Given the description of an element on the screen output the (x, y) to click on. 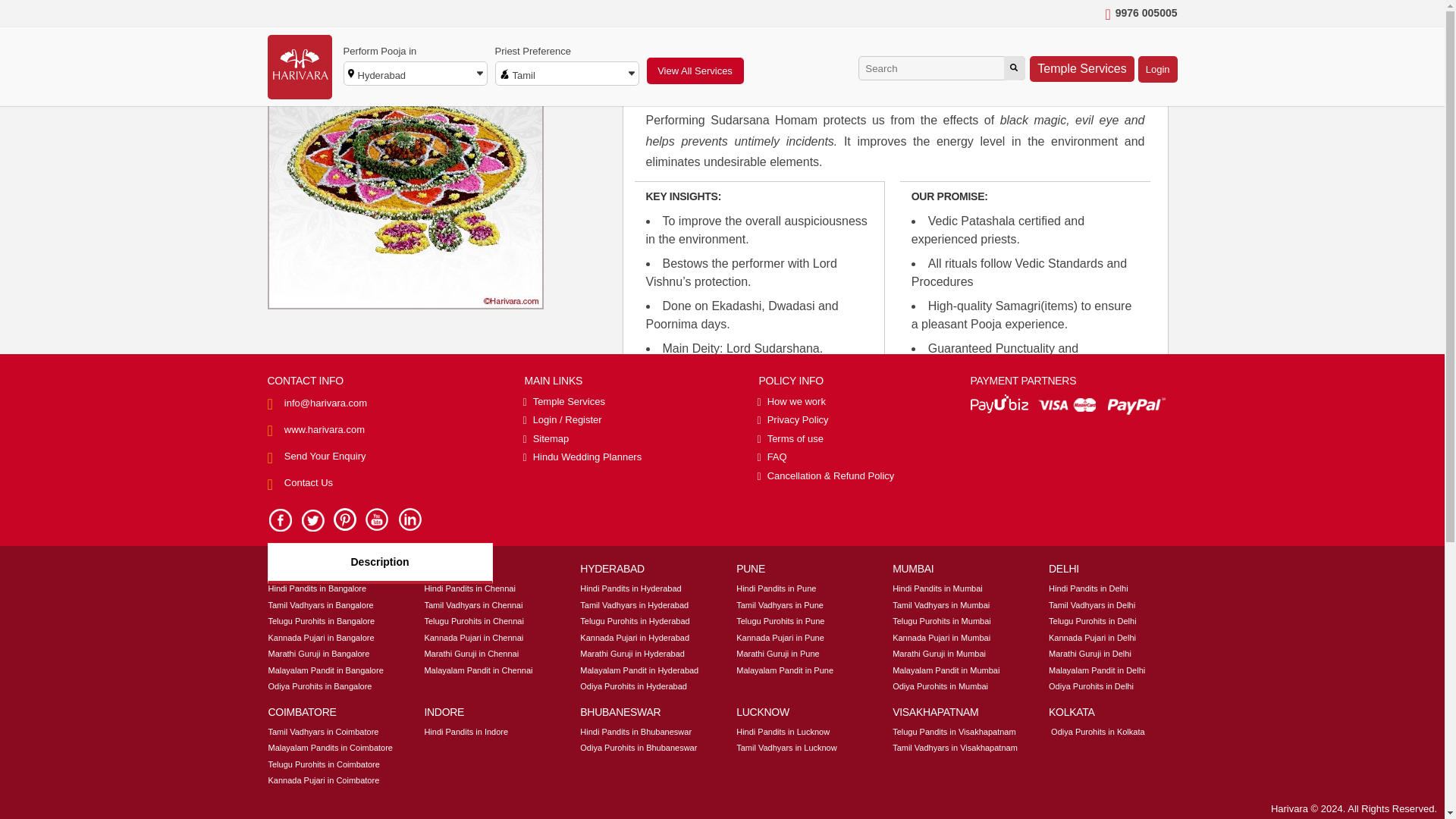
View All Services (695, 71)
Sudarsana Homam (404, 171)
Sudarsana Homam (450, 16)
Sudarsana Homam (450, 16)
Send Your Enquiry (324, 455)
www.harivara.com (324, 429)
Services (331, 17)
Homam (381, 17)
Login (1157, 69)
Description (379, 562)
